Given the description of an element on the screen output the (x, y) to click on. 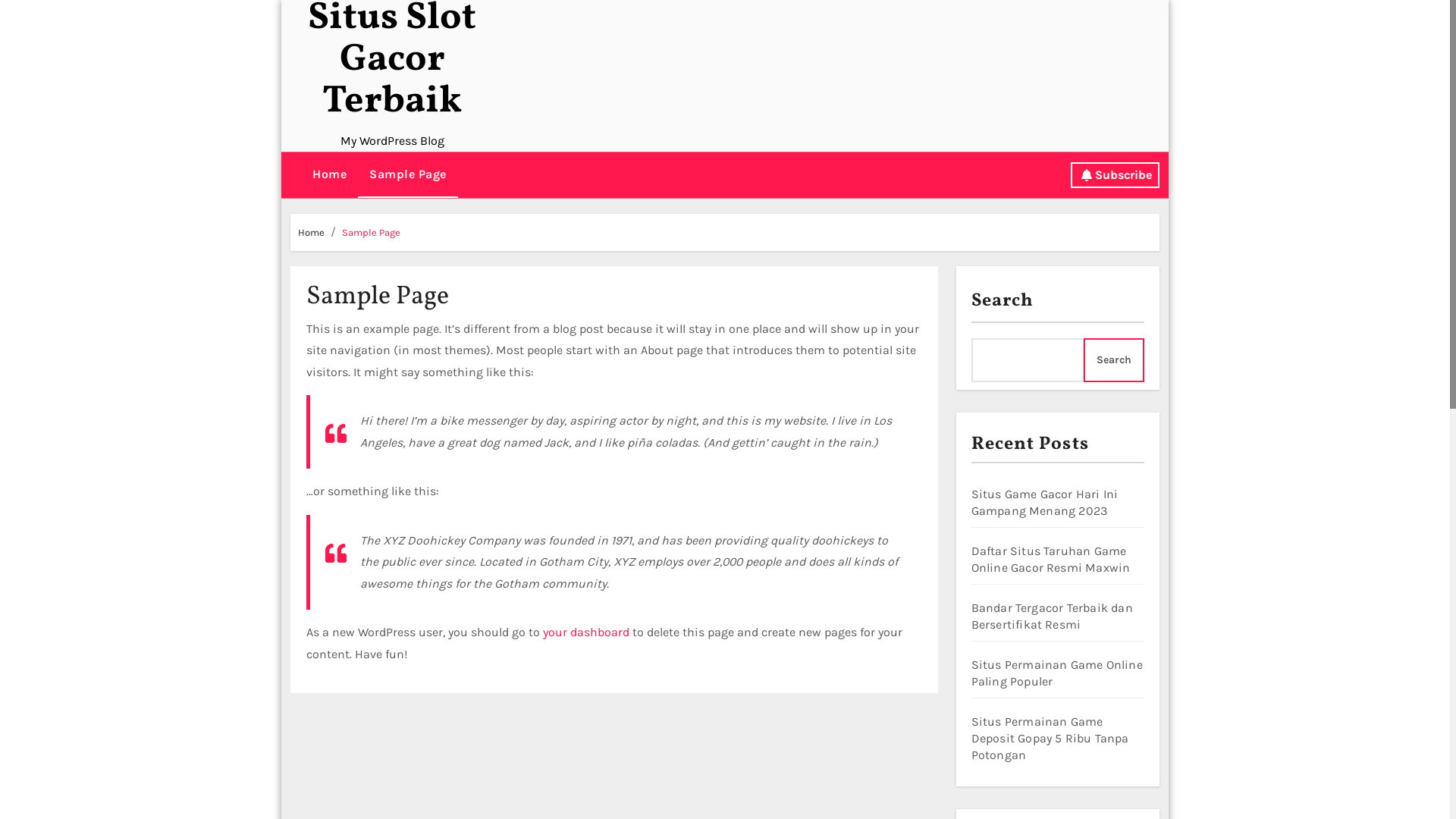
Search Element type: text (1113, 360)
Sample Page Element type: text (371, 232)
Home Element type: text (329, 174)
Home Element type: text (311, 232)
your dashboard Element type: text (585, 631)
Situs Game Gacor Hari Ini Gampang Menang 2023 Element type: text (1043, 501)
Subscribe Element type: text (1114, 175)
Daftar Situs Taruhan Game Online Gacor Resmi Maxwin Element type: text (1049, 558)
Situs Permainan Game Deposit Gopay 5 Ribu Tanpa Potongan Element type: text (1049, 738)
Situs Permainan Game Online Paling Populer Element type: text (1056, 672)
Bandar Tergacor Terbaik dan Bersertifikat Resmi Element type: text (1051, 615)
Sample Page Element type: text (407, 174)
